Given the description of an element on the screen output the (x, y) to click on. 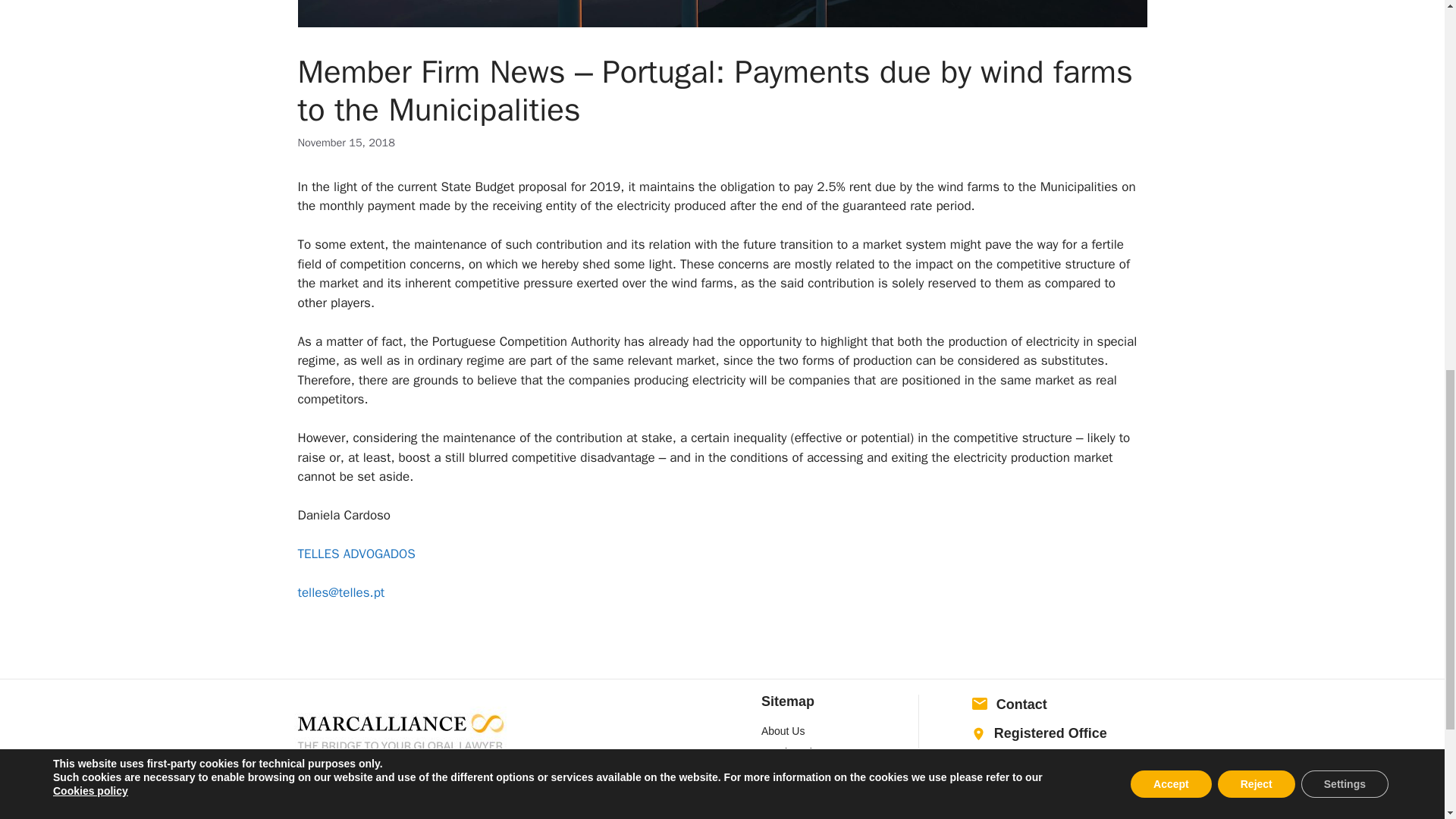
Scroll back to top (1406, 720)
Member Firms (795, 752)
Contact Us (787, 813)
Location-on (979, 734)
Governance (789, 795)
Client Services (796, 773)
About Us (783, 731)
Contact (1020, 703)
TELLES ADVOGADOS (355, 553)
Email (979, 703)
